Given the description of an element on the screen output the (x, y) to click on. 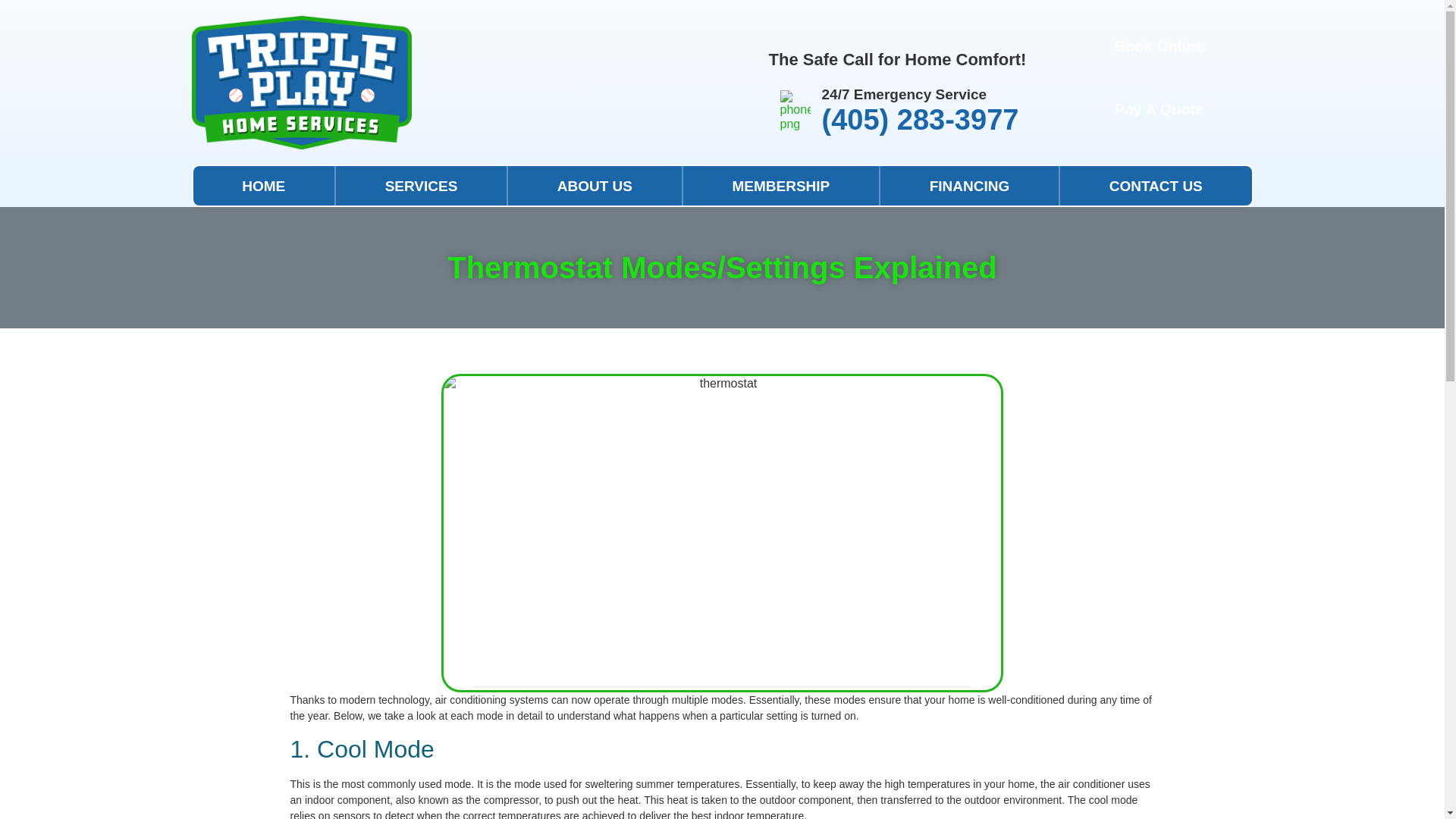
Pay A Quote (1158, 110)
SERVICES (421, 185)
Book Online (1159, 47)
HOME (262, 185)
